Given the description of an element on the screen output the (x, y) to click on. 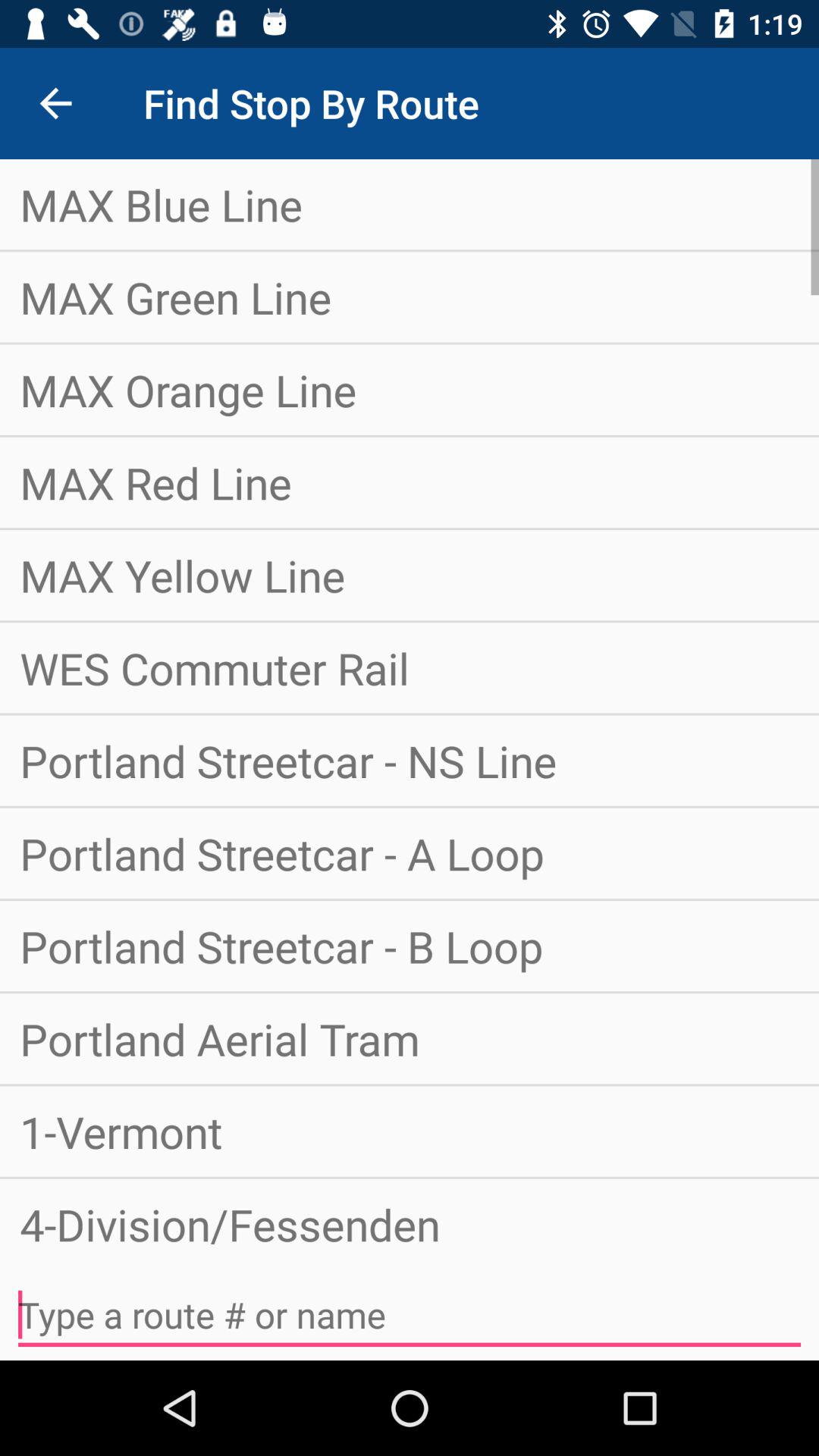
turn on the icon above 4-division/fessenden icon (409, 1131)
